Given the description of an element on the screen output the (x, y) to click on. 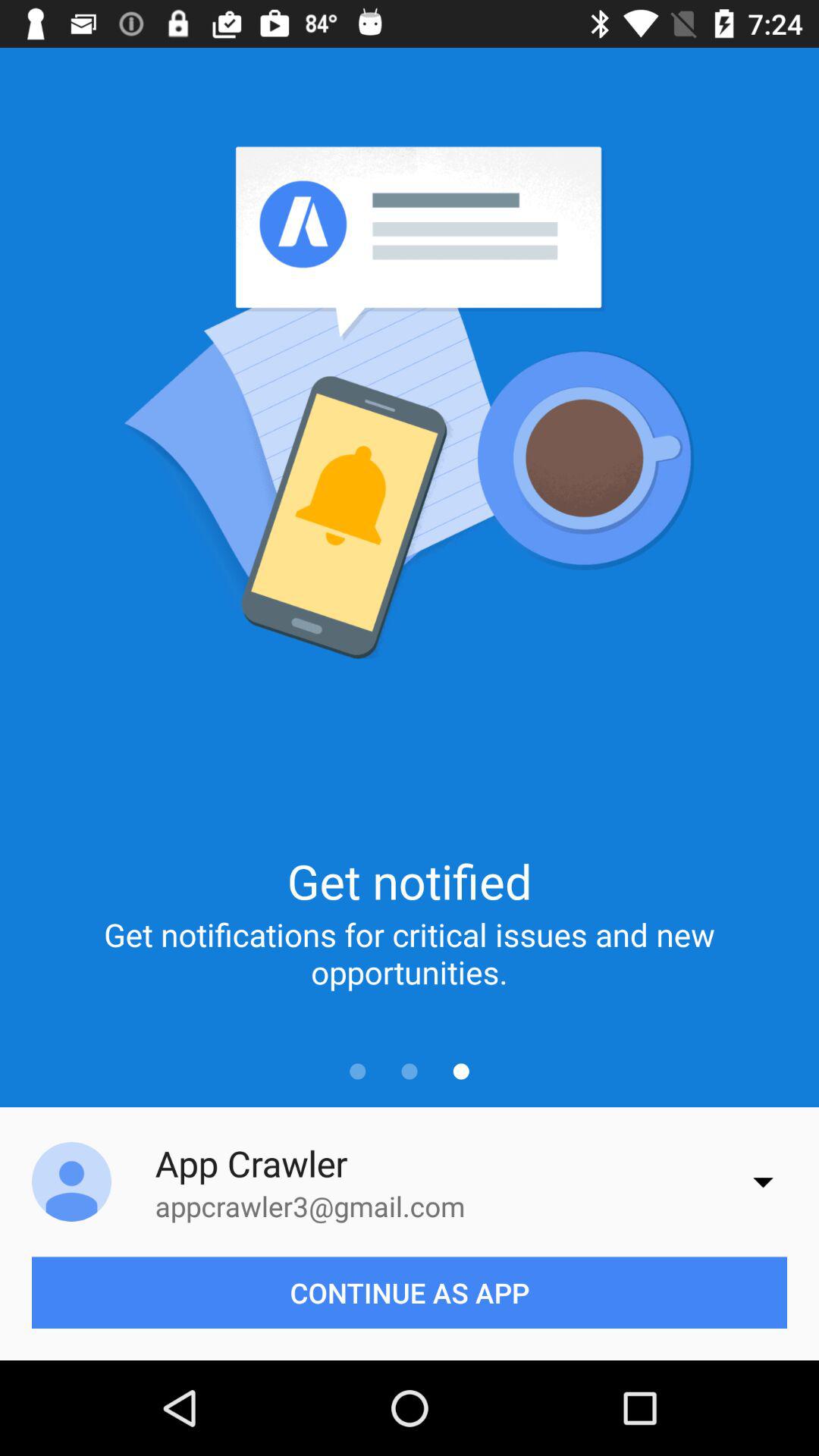
jump to the continue as app item (409, 1292)
